Given the description of an element on the screen output the (x, y) to click on. 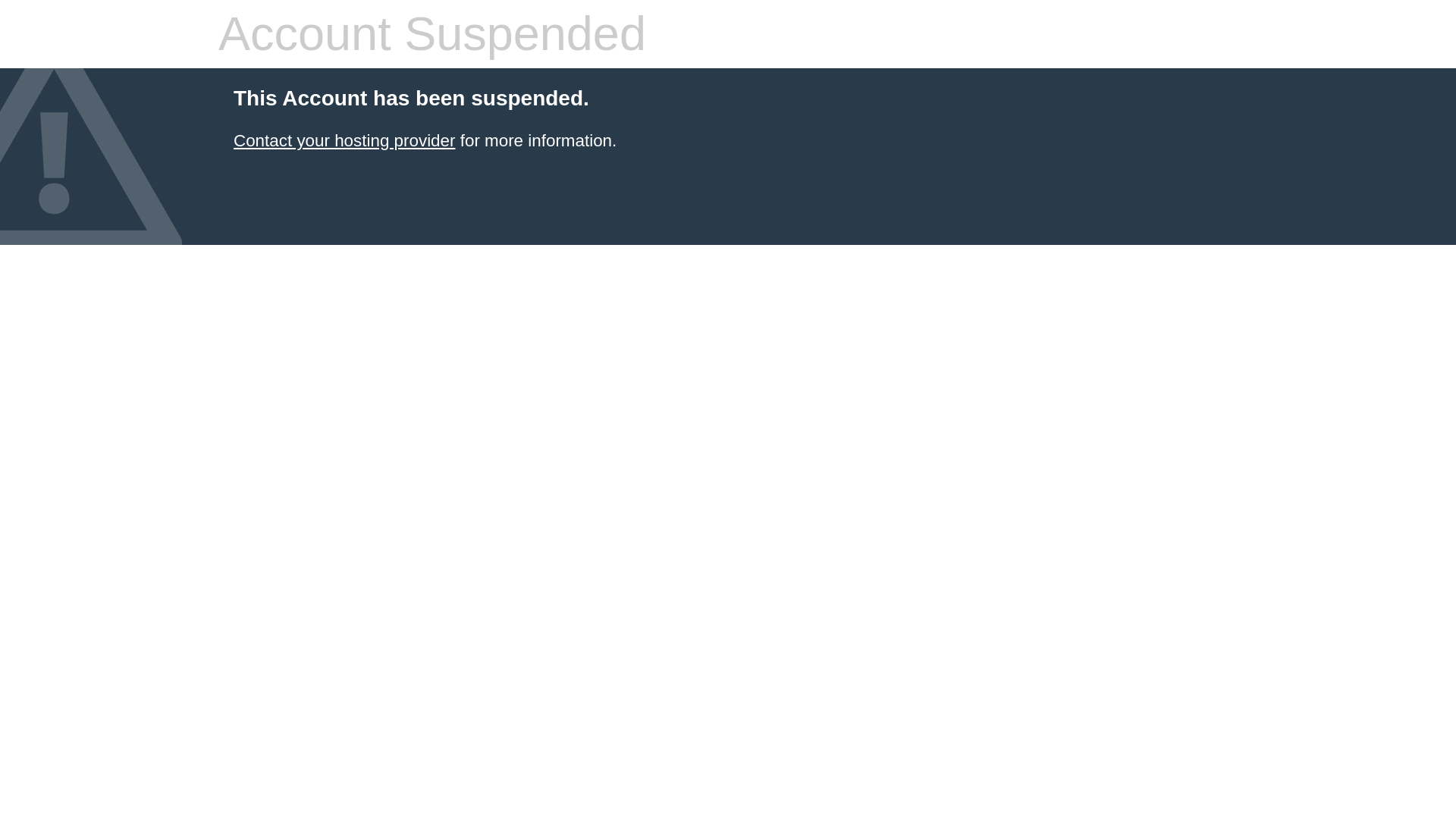
Contact your hosting provider (343, 140)
